Given the description of an element on the screen output the (x, y) to click on. 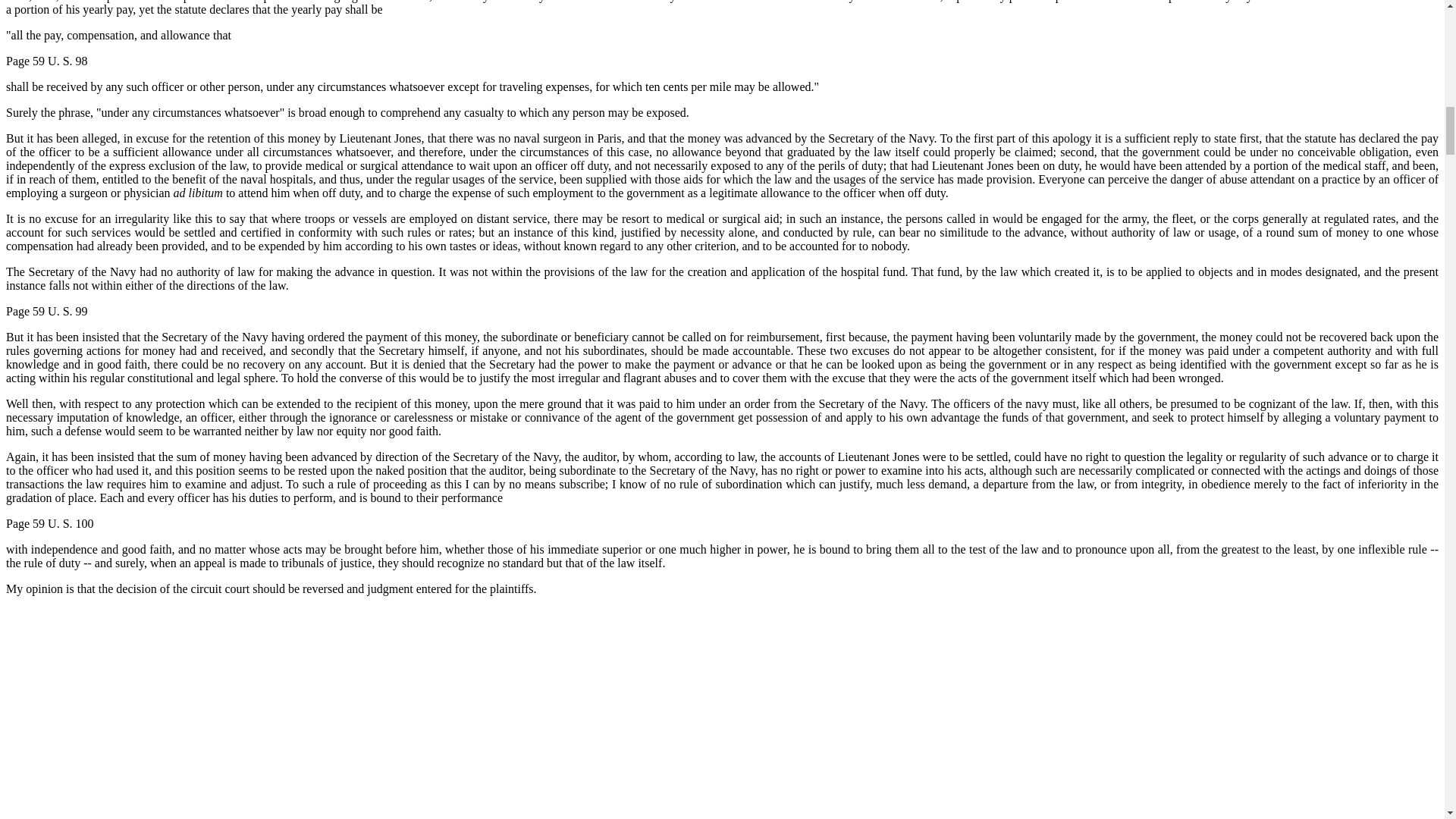
Page 59 U. S. 98 (46, 60)
Page 59 U. S. 100 (49, 522)
Page 59 U. S. 99 (46, 310)
